Given the description of an element on the screen output the (x, y) to click on. 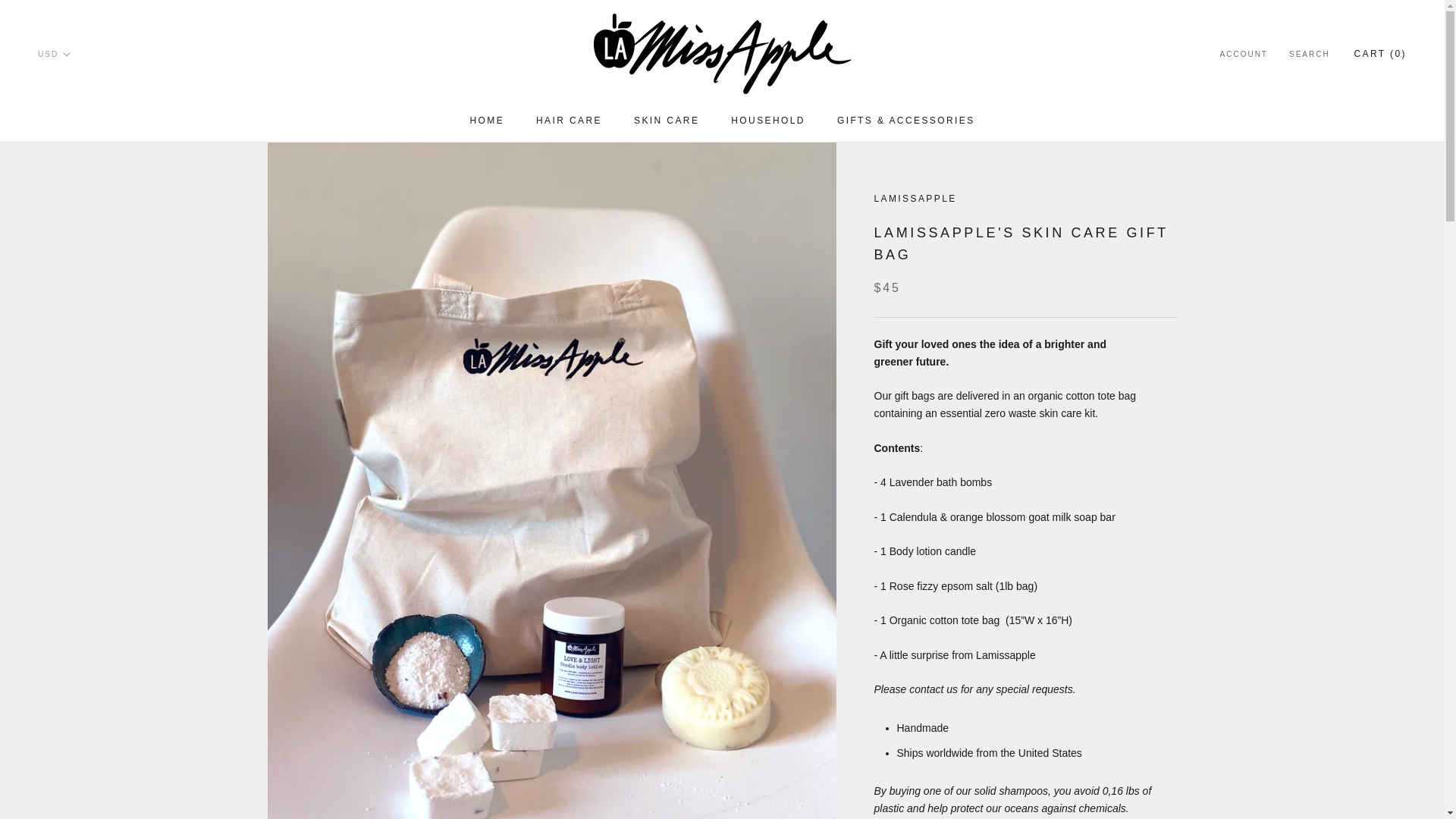
ACCOUNT (767, 120)
SEARCH (1244, 54)
Currency selector (1309, 54)
